Given the description of an element on the screen output the (x, y) to click on. 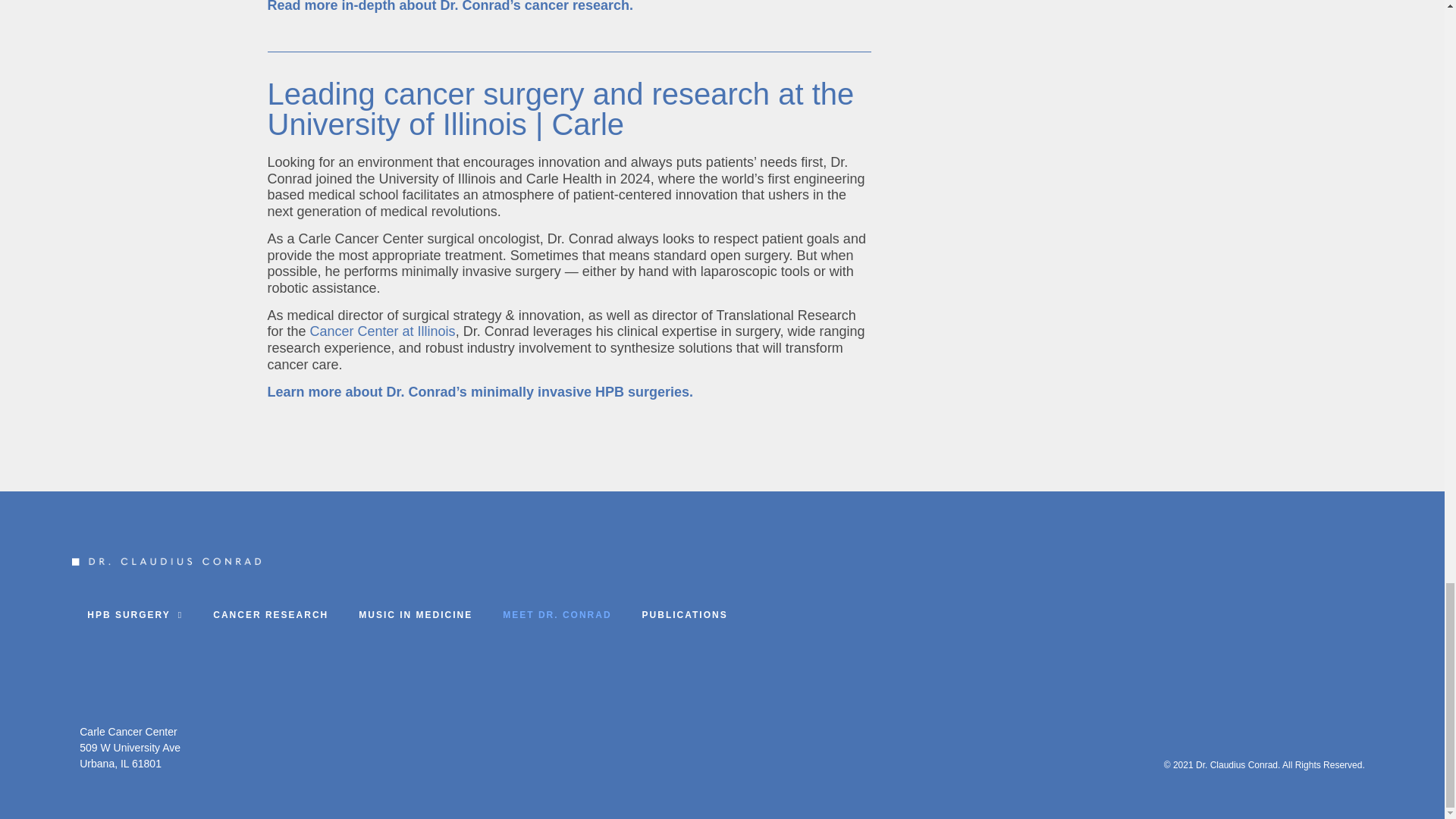
HPB SURGERY (135, 614)
MEET DR. CONRAD (556, 614)
PUBLICATIONS (685, 614)
Cancer Center at Illinois (382, 331)
CANCER RESEARCH (270, 614)
MUSIC IN MEDICINE (414, 614)
